Given the description of an element on the screen output the (x, y) to click on. 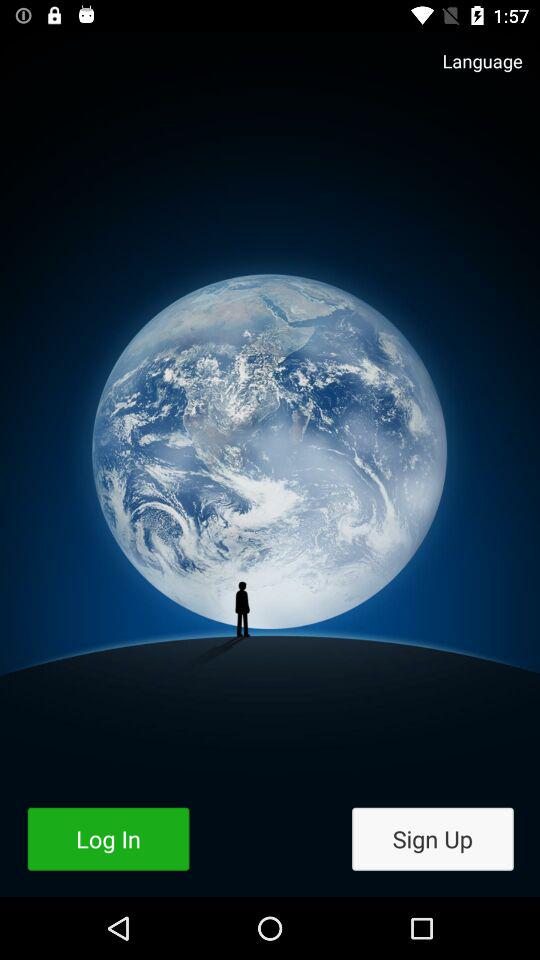
press the log in icon (108, 838)
